Given the description of an element on the screen output the (x, y) to click on. 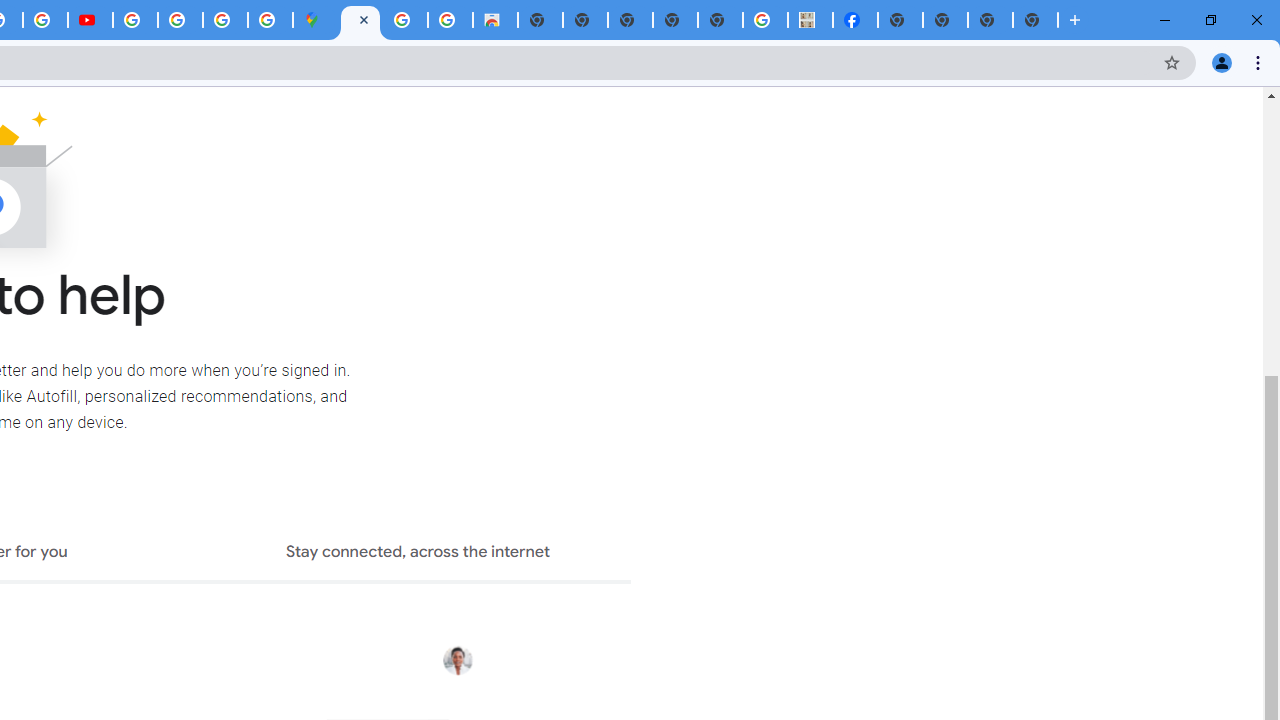
Miley Cyrus | Facebook (855, 20)
Chrome Web Store - Shopping (495, 20)
Stay connected, across the internet (417, 553)
MILEY CYRUS. (810, 20)
How Chrome protects your passwords - Google Chrome Help (134, 20)
New Tab (1035, 20)
